Given the description of an element on the screen output the (x, y) to click on. 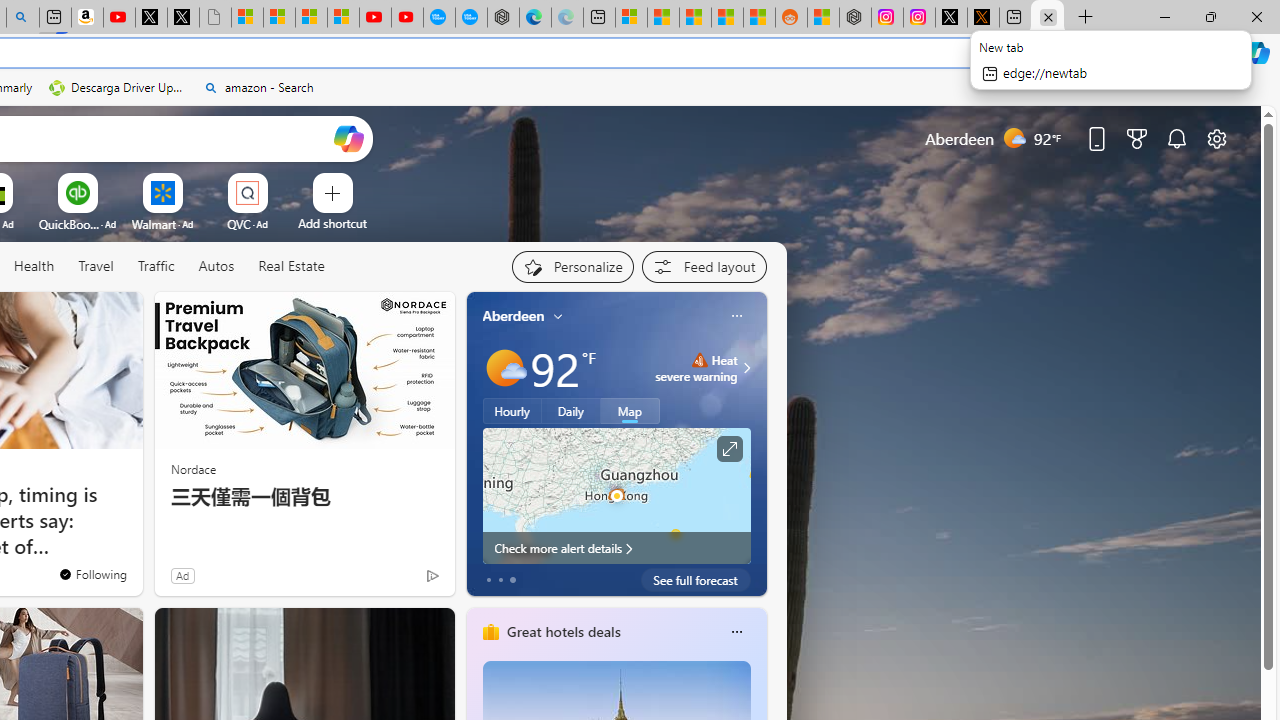
Descarga Driver Updater (118, 88)
hotels-header-icon (490, 632)
Gloom - YouTube (374, 17)
tab-1 (500, 579)
Health (34, 265)
Health (33, 267)
